Given the description of an element on the screen output the (x, y) to click on. 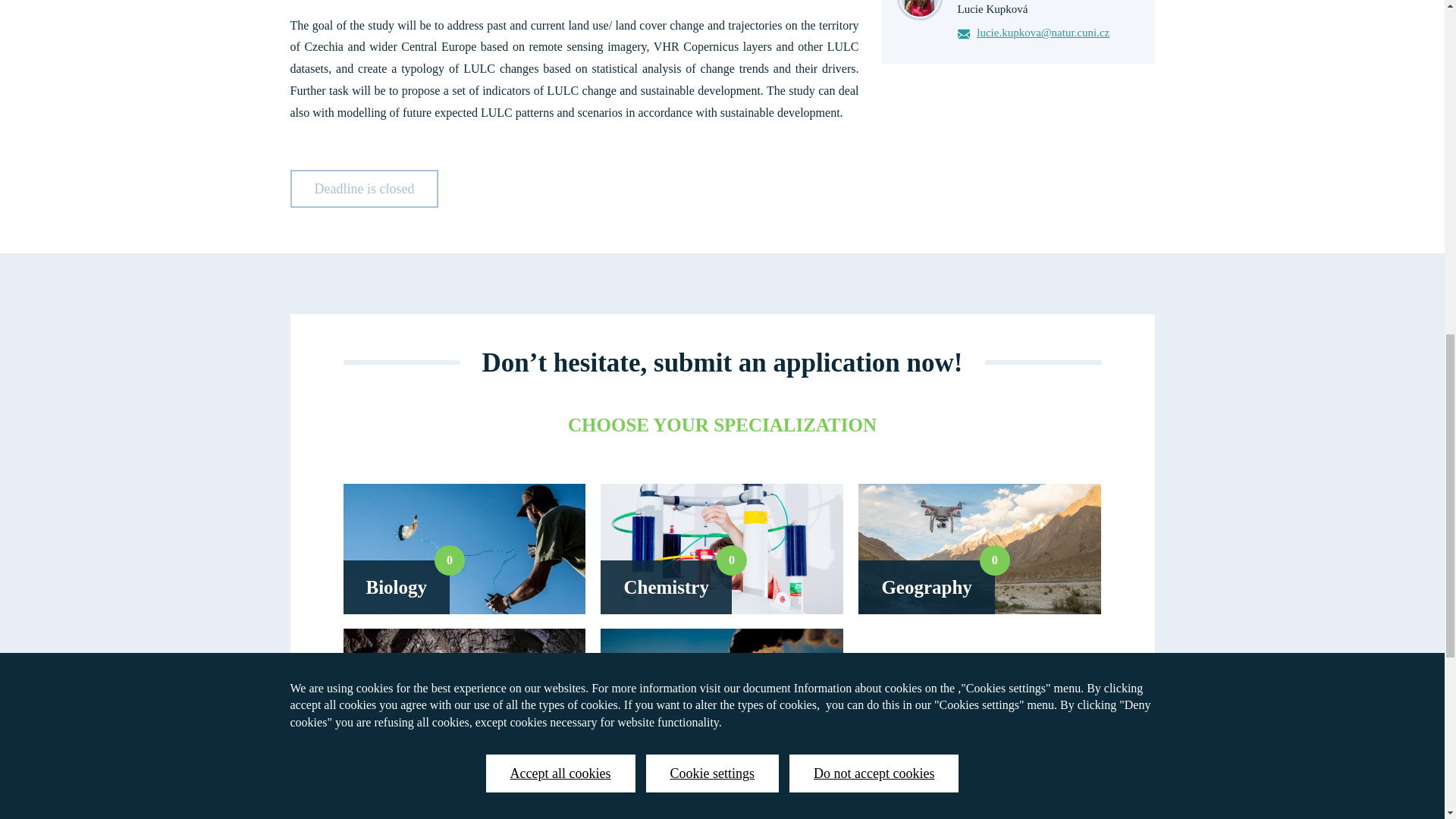
Deadline is closed (979, 549)
